Given the description of an element on the screen output the (x, y) to click on. 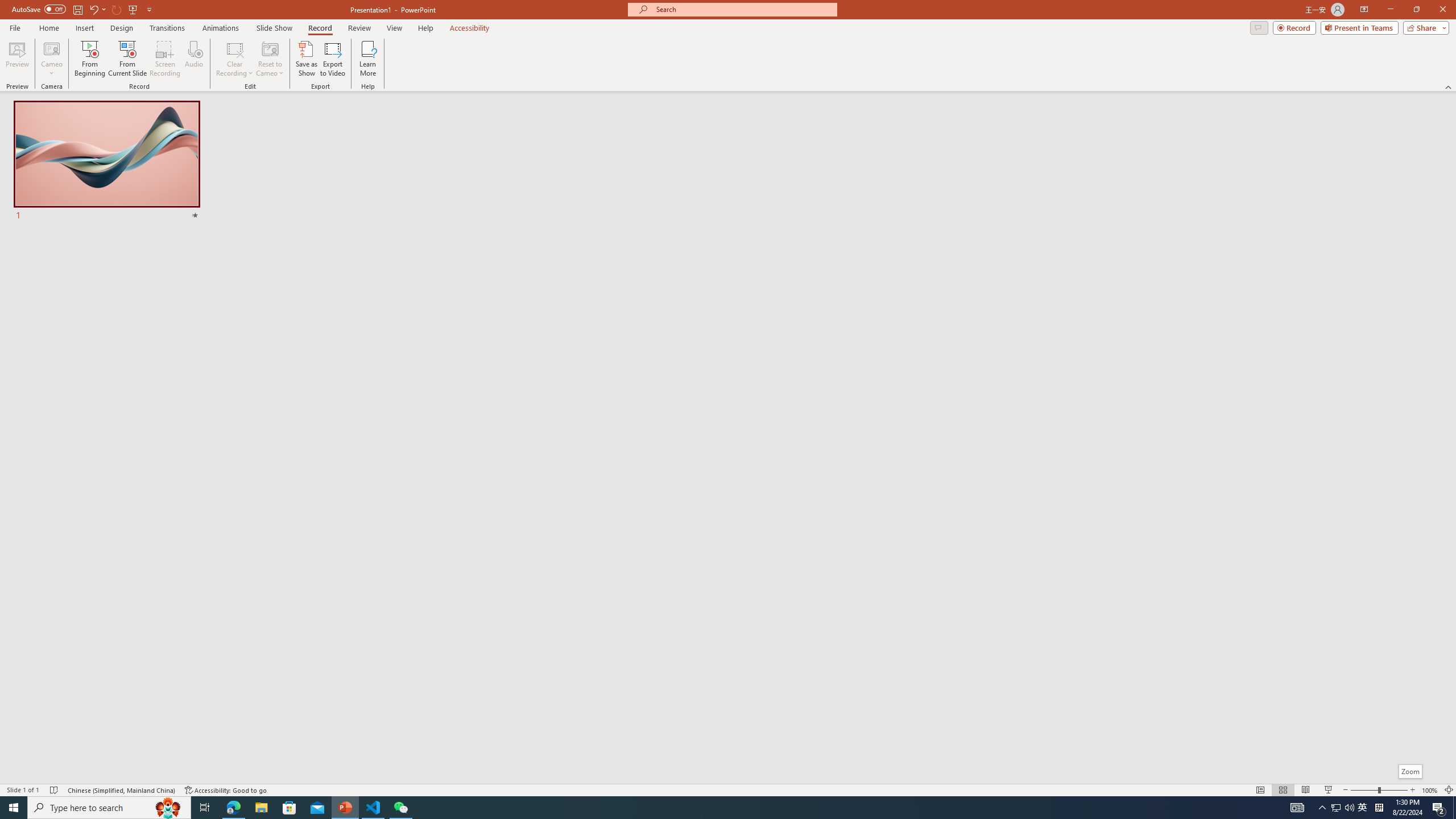
Cameo (51, 58)
Screen Recording (165, 58)
Export to Video (332, 58)
